Given the description of an element on the screen output the (x, y) to click on. 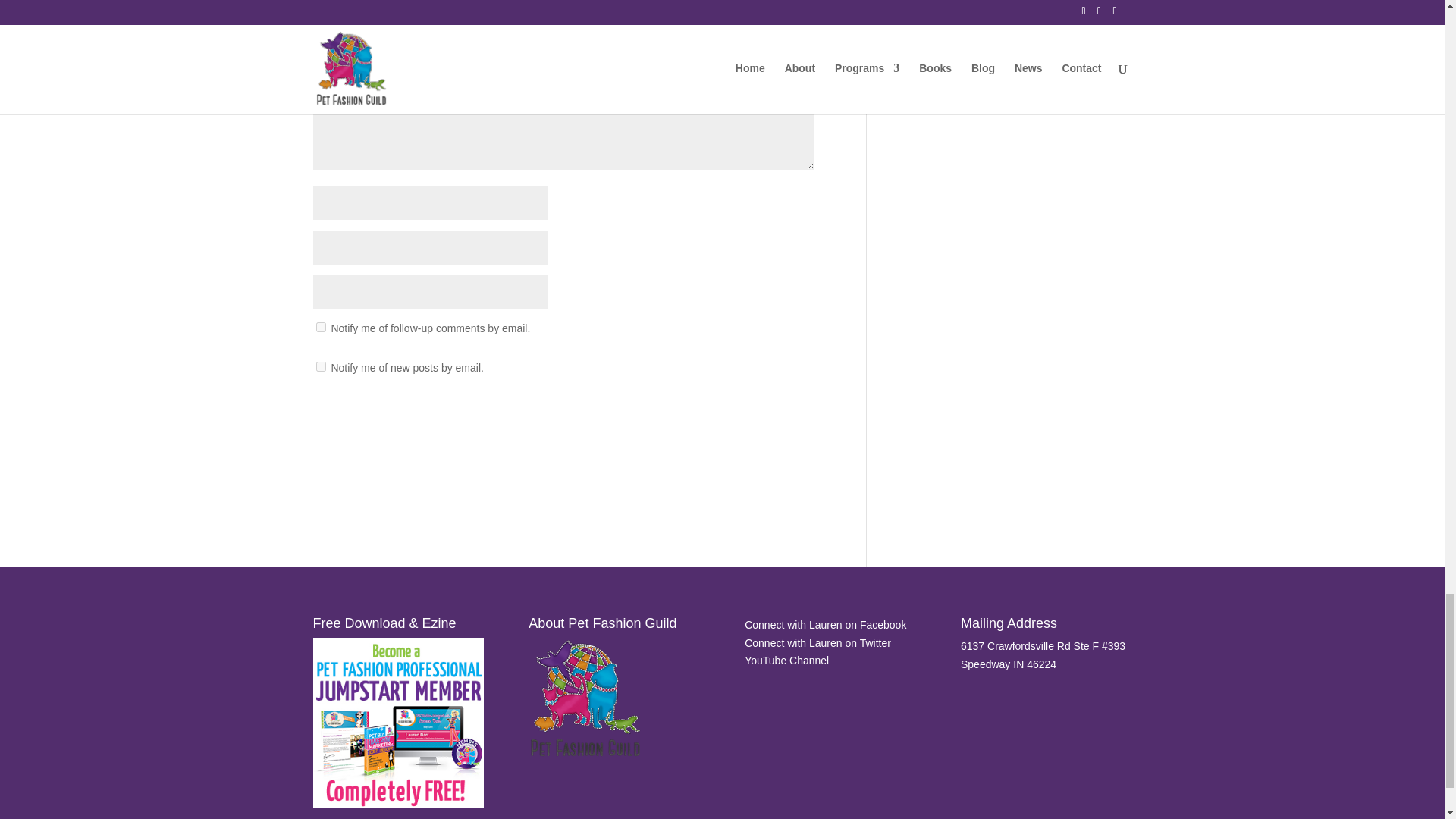
subscribe (319, 327)
Submit Comment (738, 417)
subscribe (319, 366)
